Given the description of an element on the screen output the (x, y) to click on. 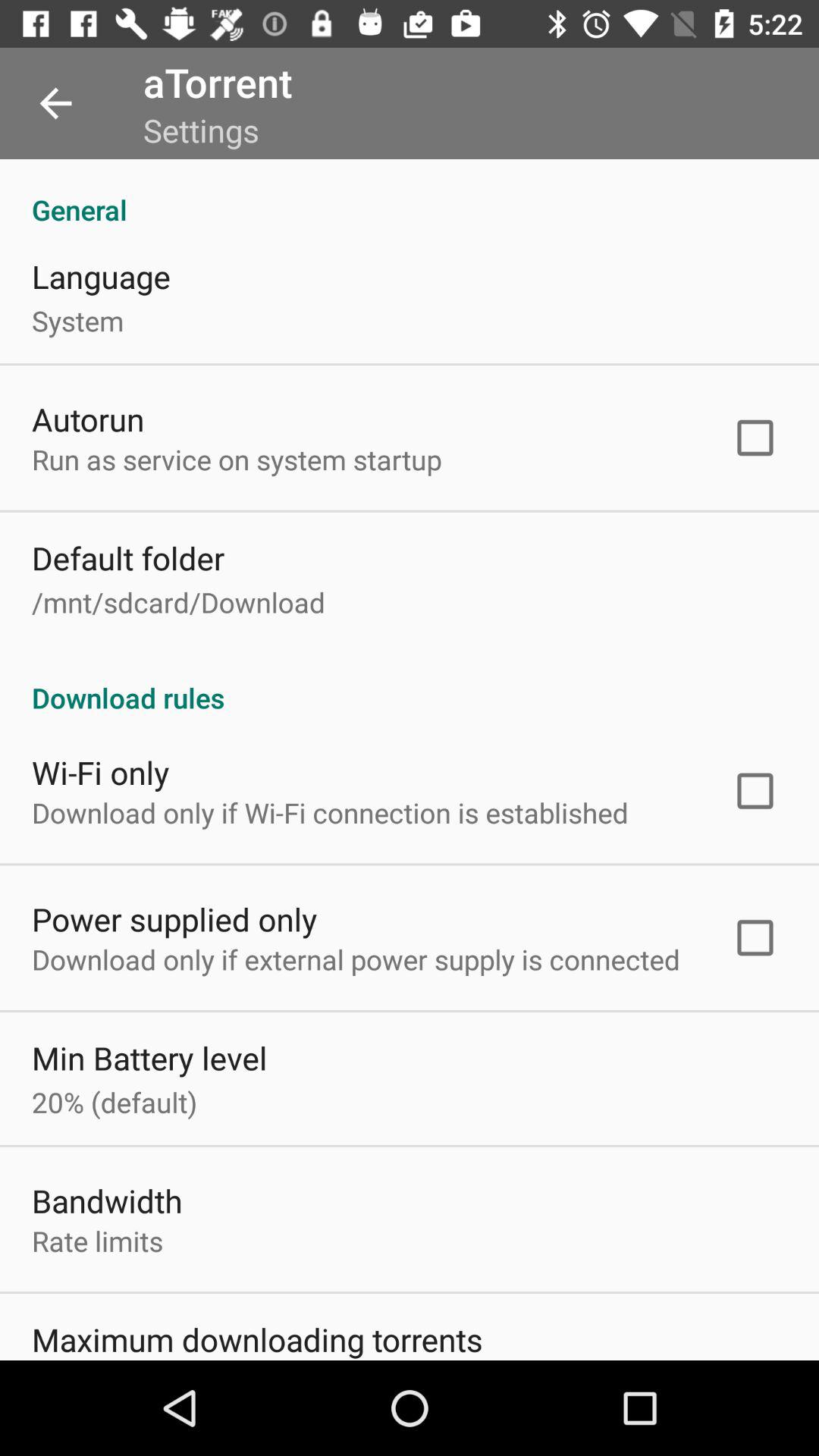
turn off icon above the default folder item (236, 459)
